Given the description of an element on the screen output the (x, y) to click on. 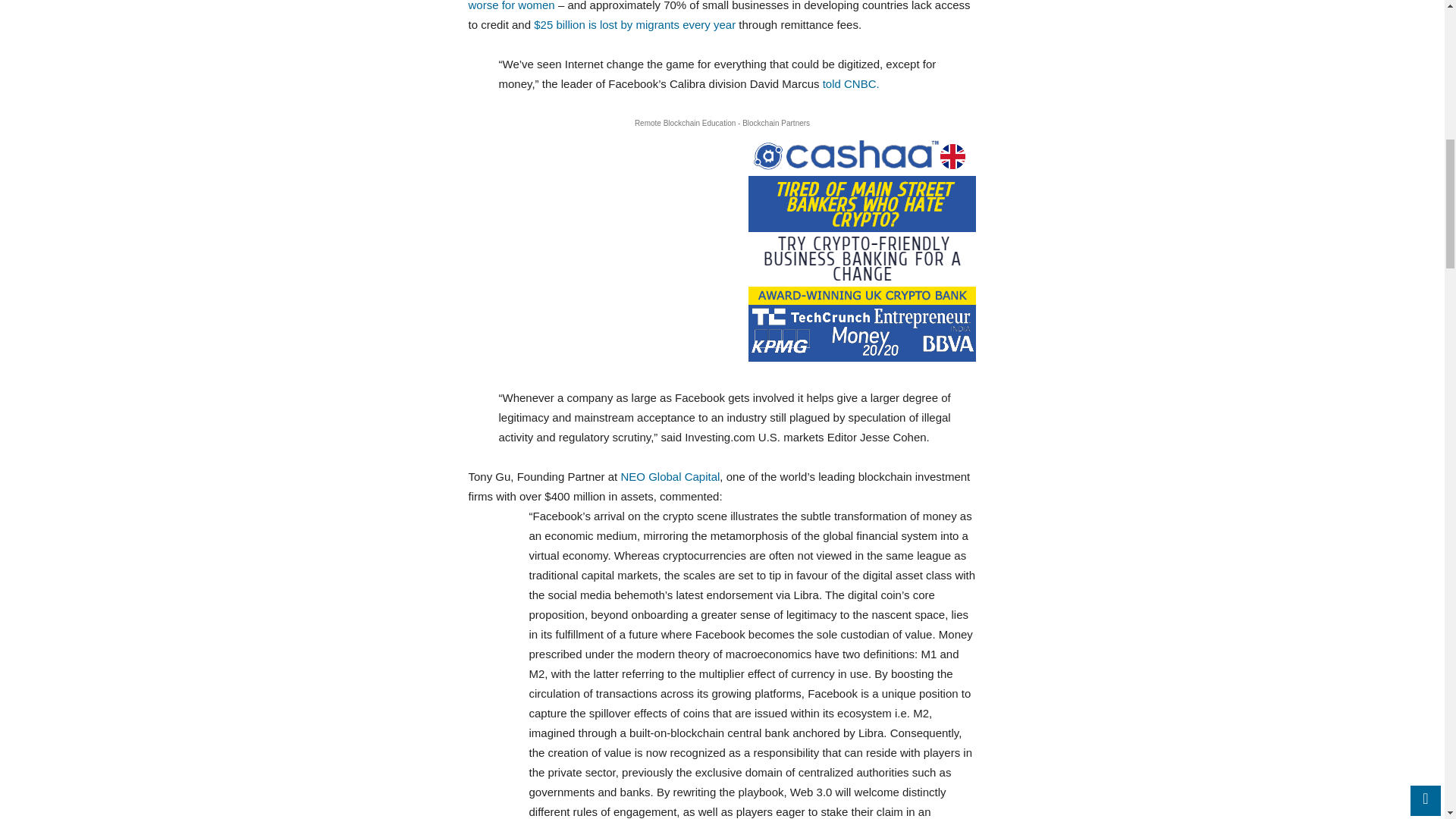
worse for women (511, 5)
told CNBC. (850, 83)
NEO Global Capital (669, 476)
